Given the description of an element on the screen output the (x, y) to click on. 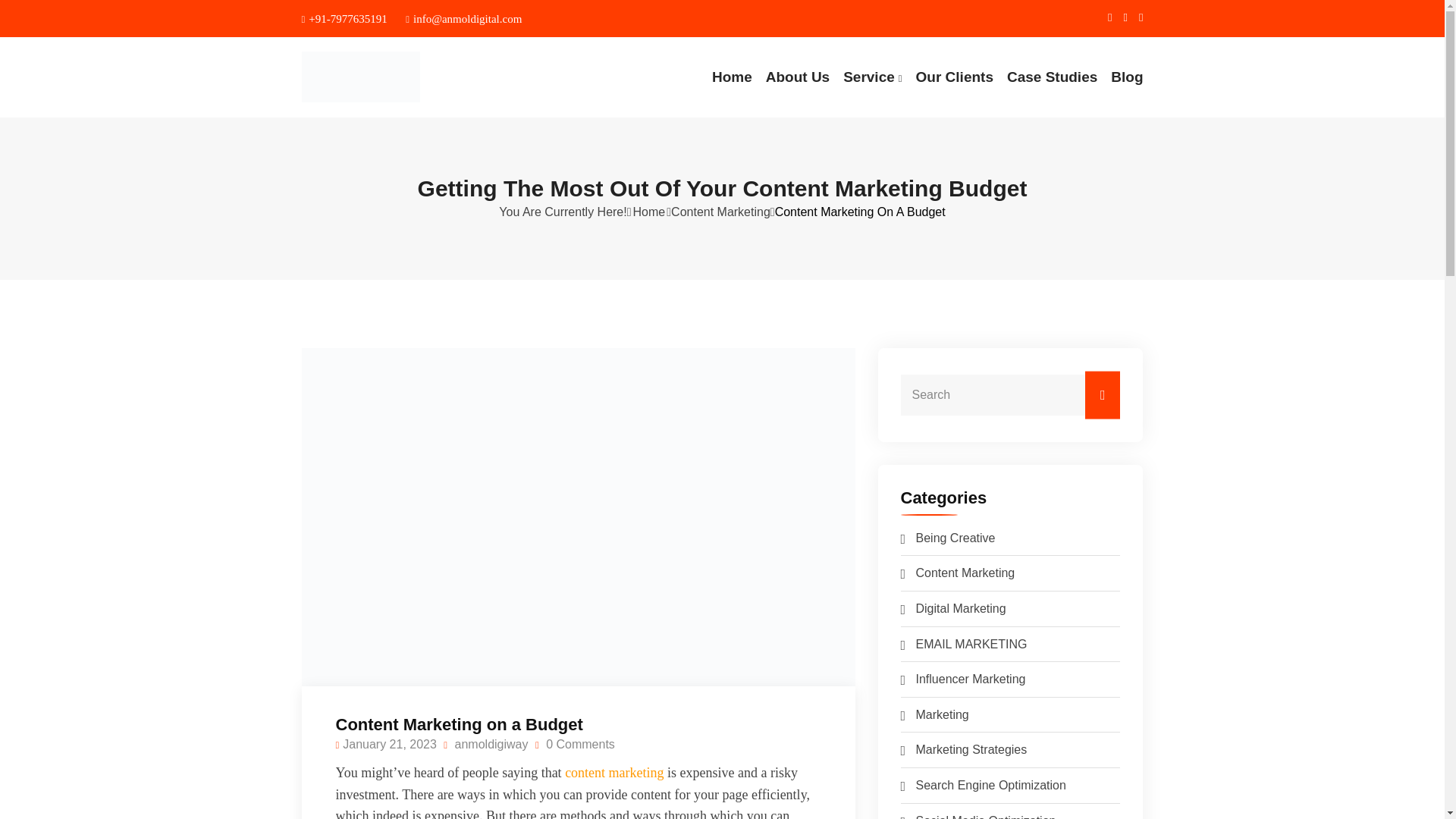
Home (731, 77)
Service (872, 77)
Case Studies (1052, 77)
Blog (1126, 77)
Search for: (1011, 394)
Anmol Digital (398, 76)
Our Clients (953, 77)
Content Marketing (720, 211)
content marketing (613, 772)
About Us (797, 77)
Home (649, 211)
anmoldigiway (485, 744)
0 Comments (574, 744)
